Given the description of an element on the screen output the (x, y) to click on. 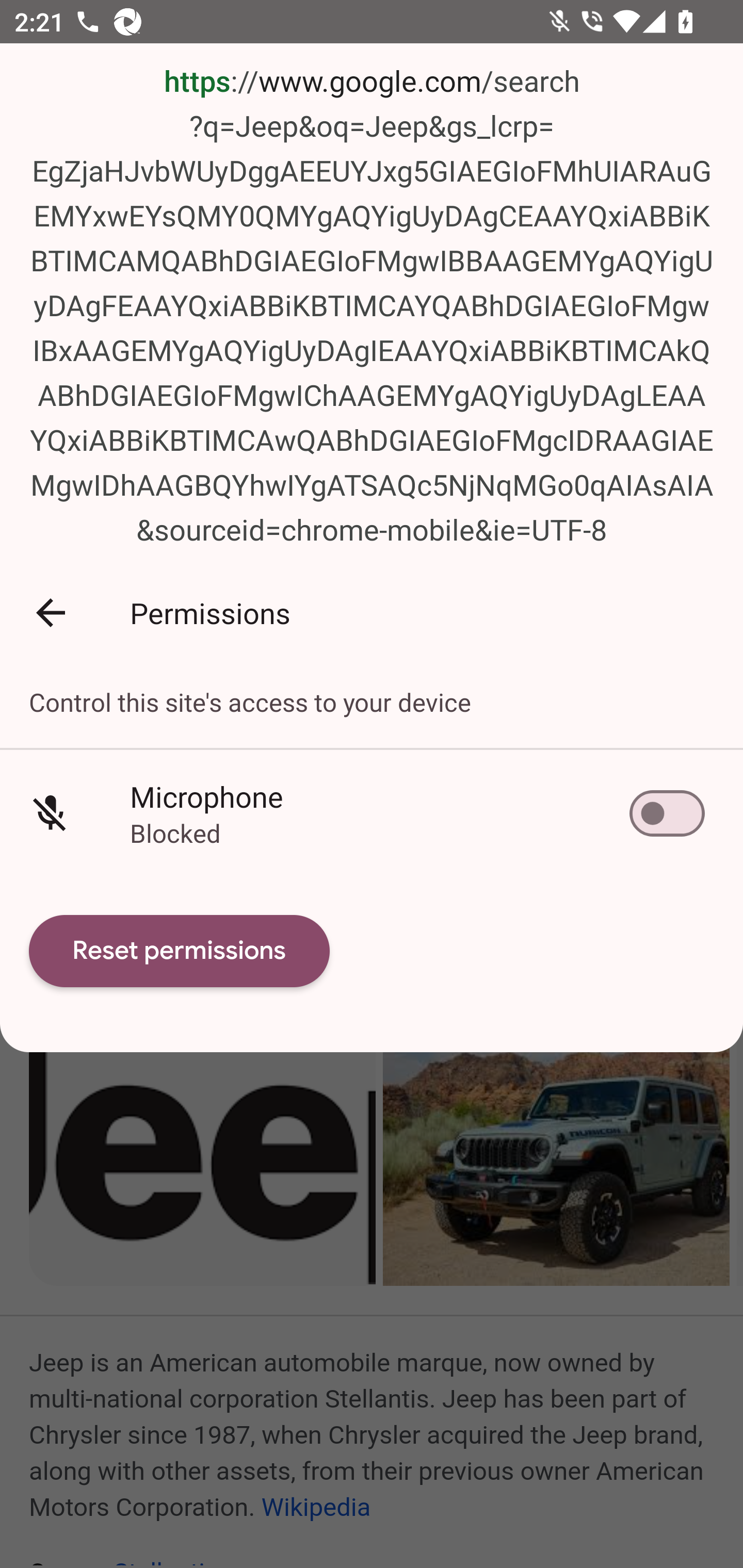
Back (50, 612)
Microphone Blocked (371, 813)
Reset permissions (178, 950)
